Given the description of an element on the screen output the (x, y) to click on. 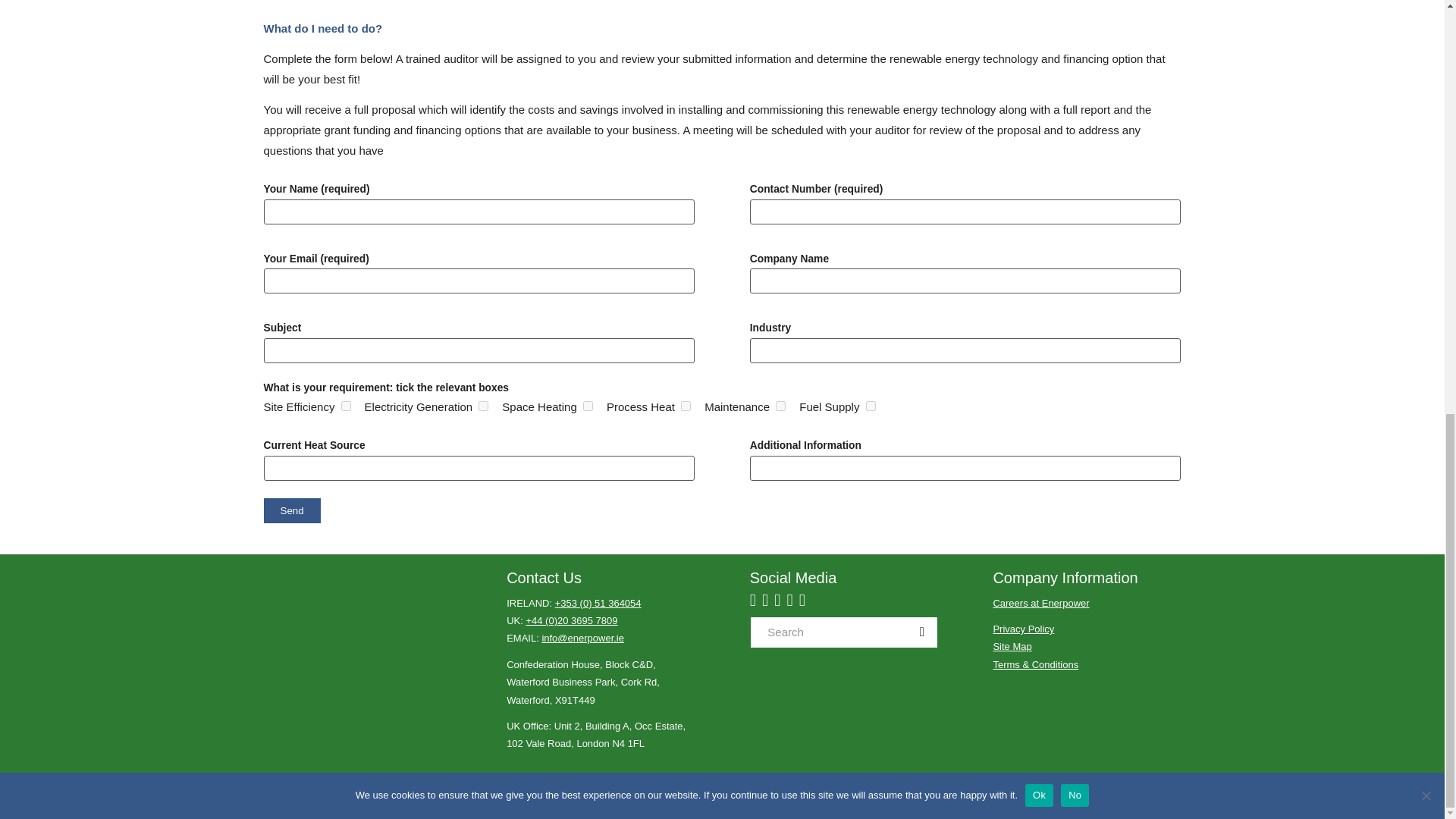
Site Efficiency (345, 406)
enerpower-footer-logo-total-energy-solutions (357, 582)
Process Heat (685, 406)
Fuel Supply (871, 406)
Send (291, 510)
Space Heating (587, 406)
Send (291, 510)
Electricity Generation (483, 406)
Maintenance (781, 406)
